Given the description of an element on the screen output the (x, y) to click on. 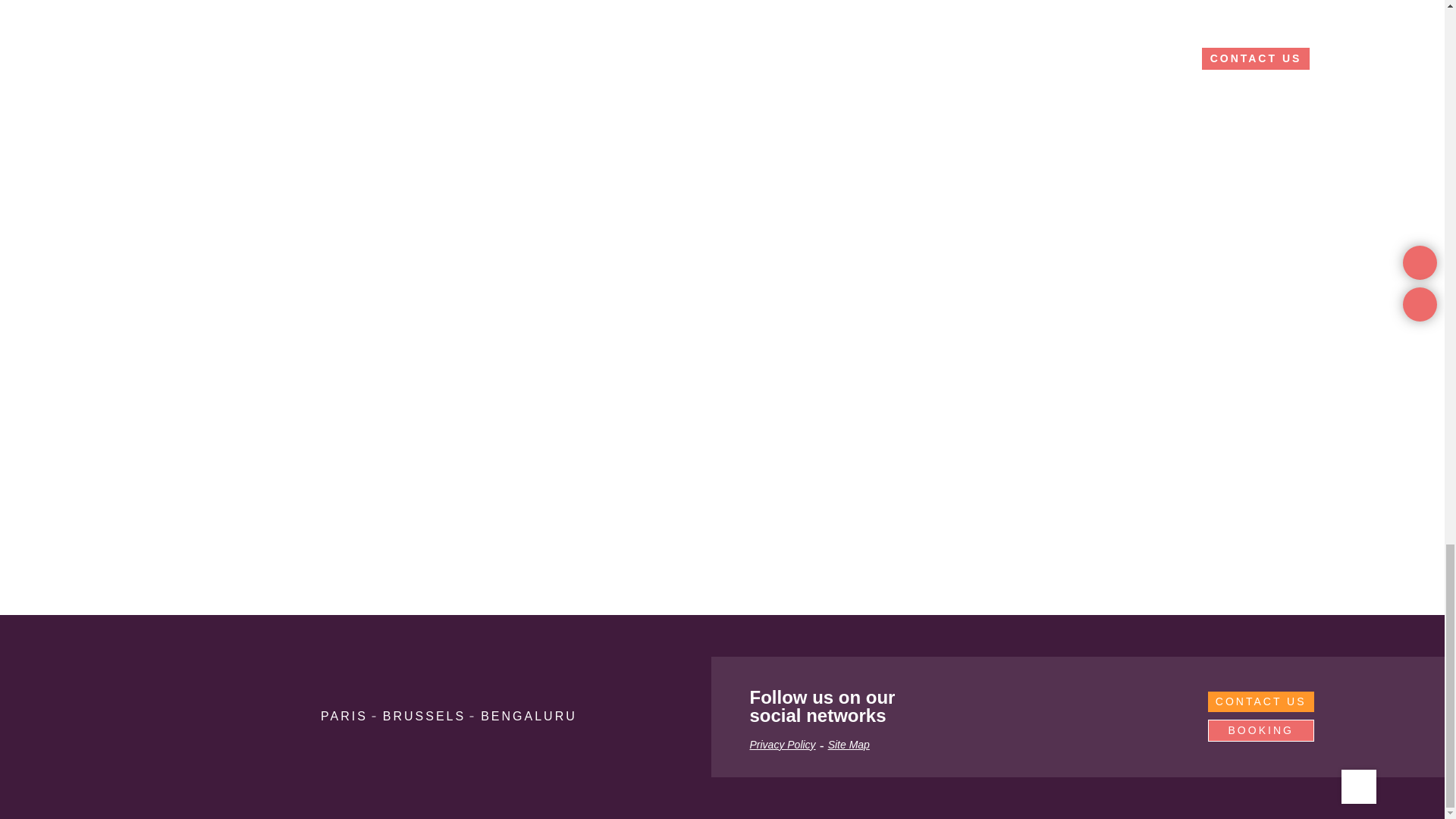
CONTACT US (1261, 701)
Youtube (1130, 706)
Instagram (1010, 706)
Facebook (1070, 706)
Linkedin (951, 706)
Privacy Policy (782, 744)
Site Map (848, 744)
